Given the description of an element on the screen output the (x, y) to click on. 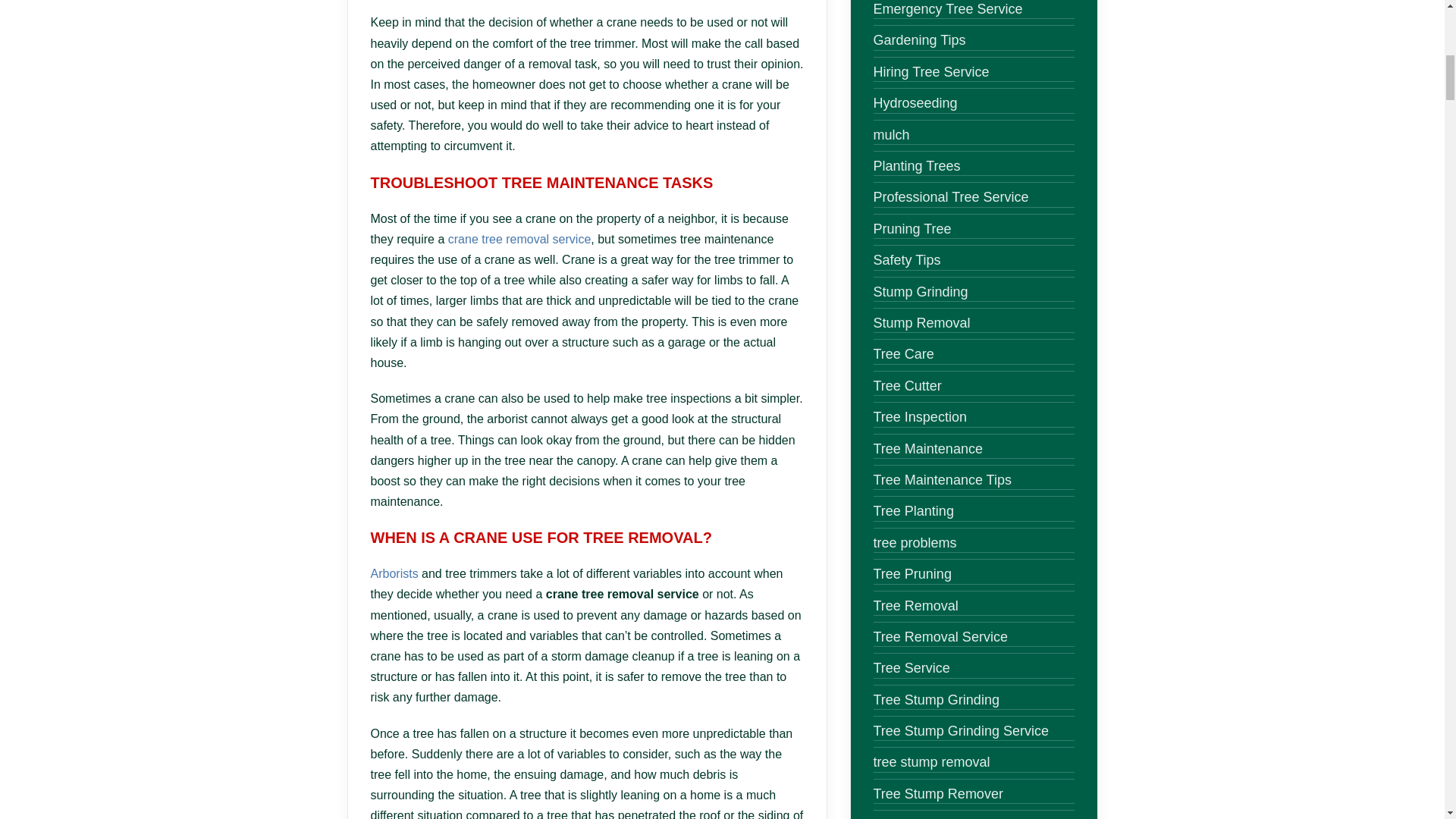
Arborists (393, 573)
crane tree removal service (519, 238)
